Given the description of an element on the screen output the (x, y) to click on. 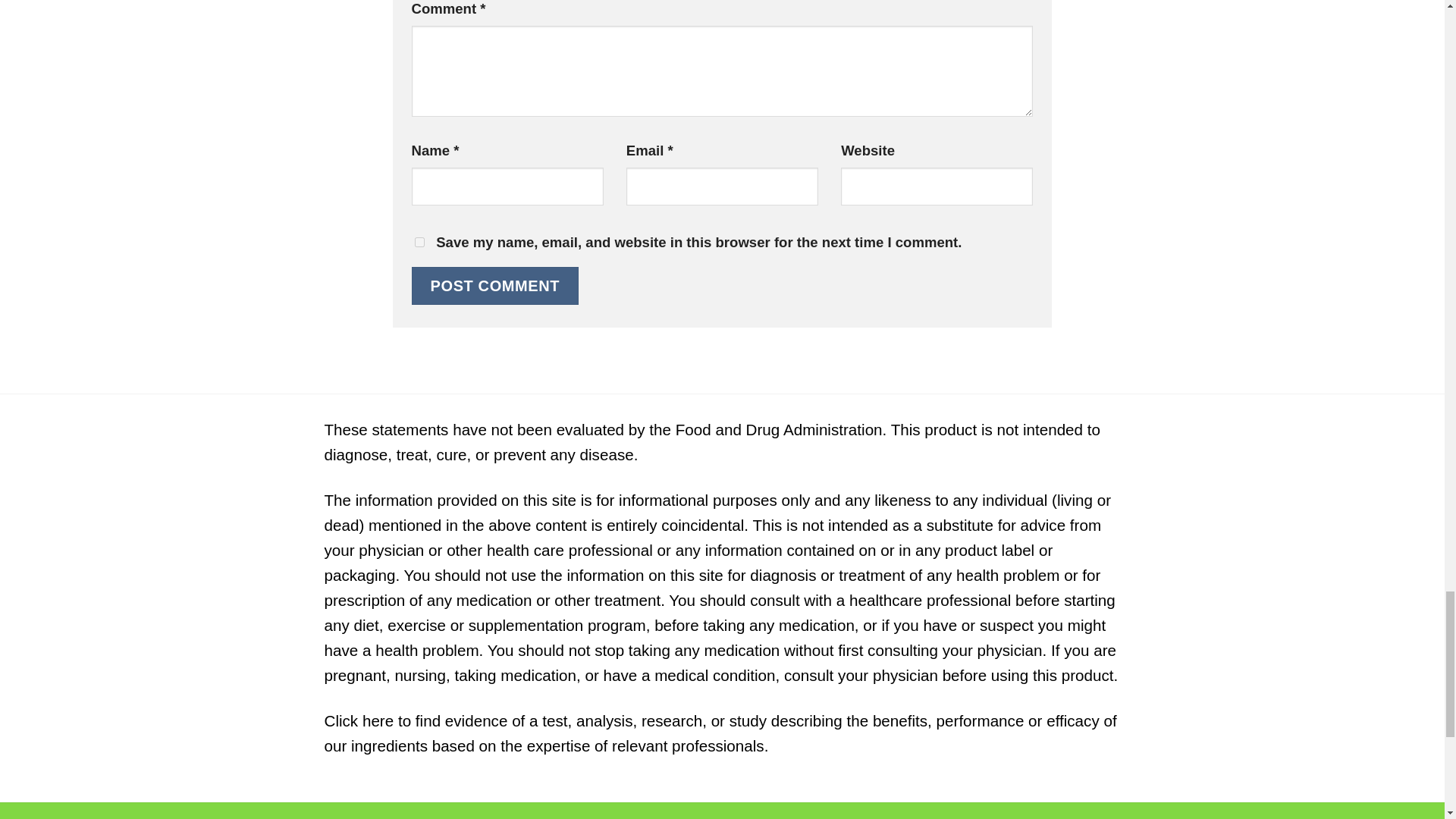
Post Comment (494, 285)
yes (418, 242)
Post Comment (494, 285)
